Given the description of an element on the screen output the (x, y) to click on. 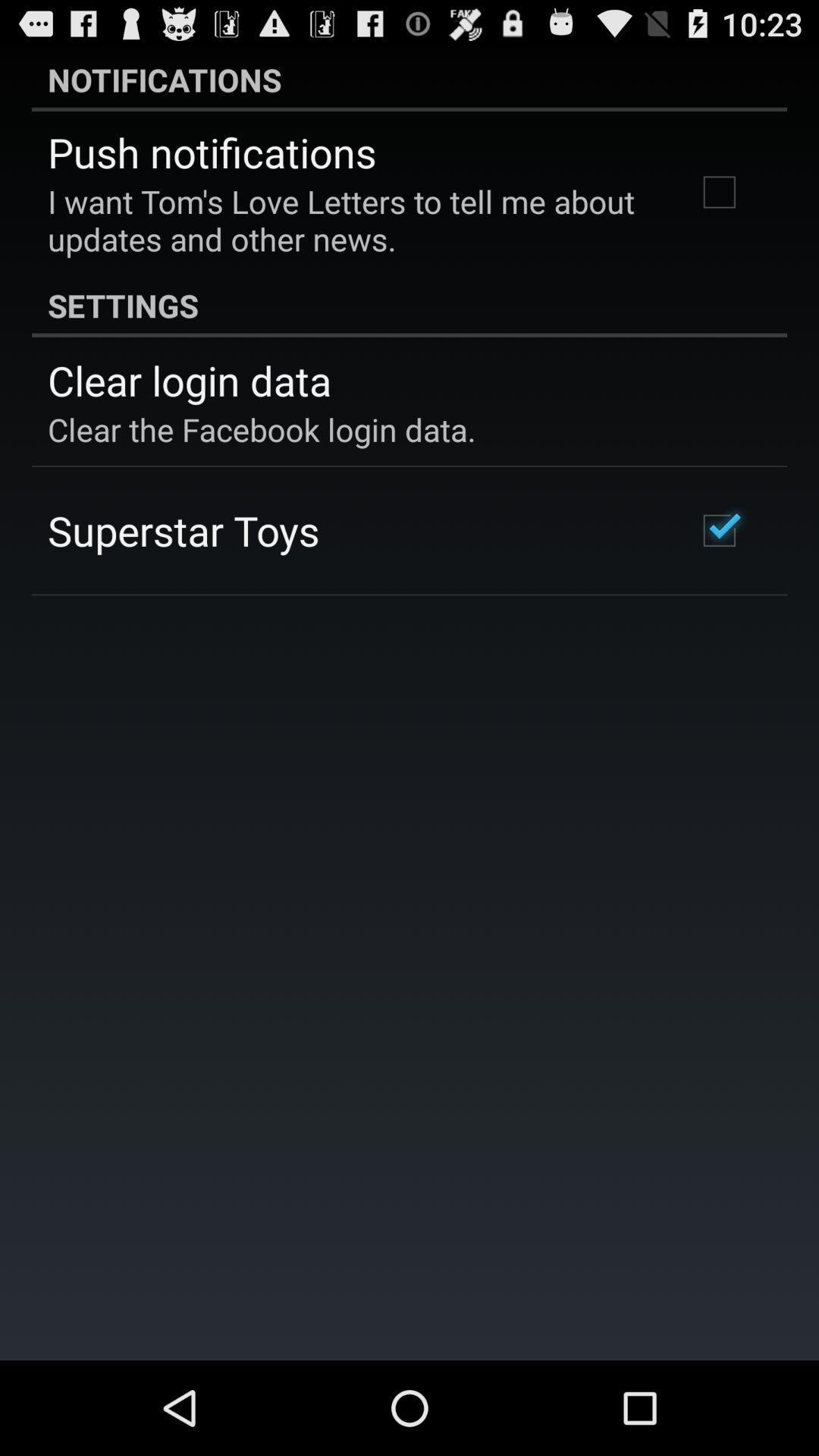
click the item below clear login data item (261, 429)
